Given the description of an element on the screen output the (x, y) to click on. 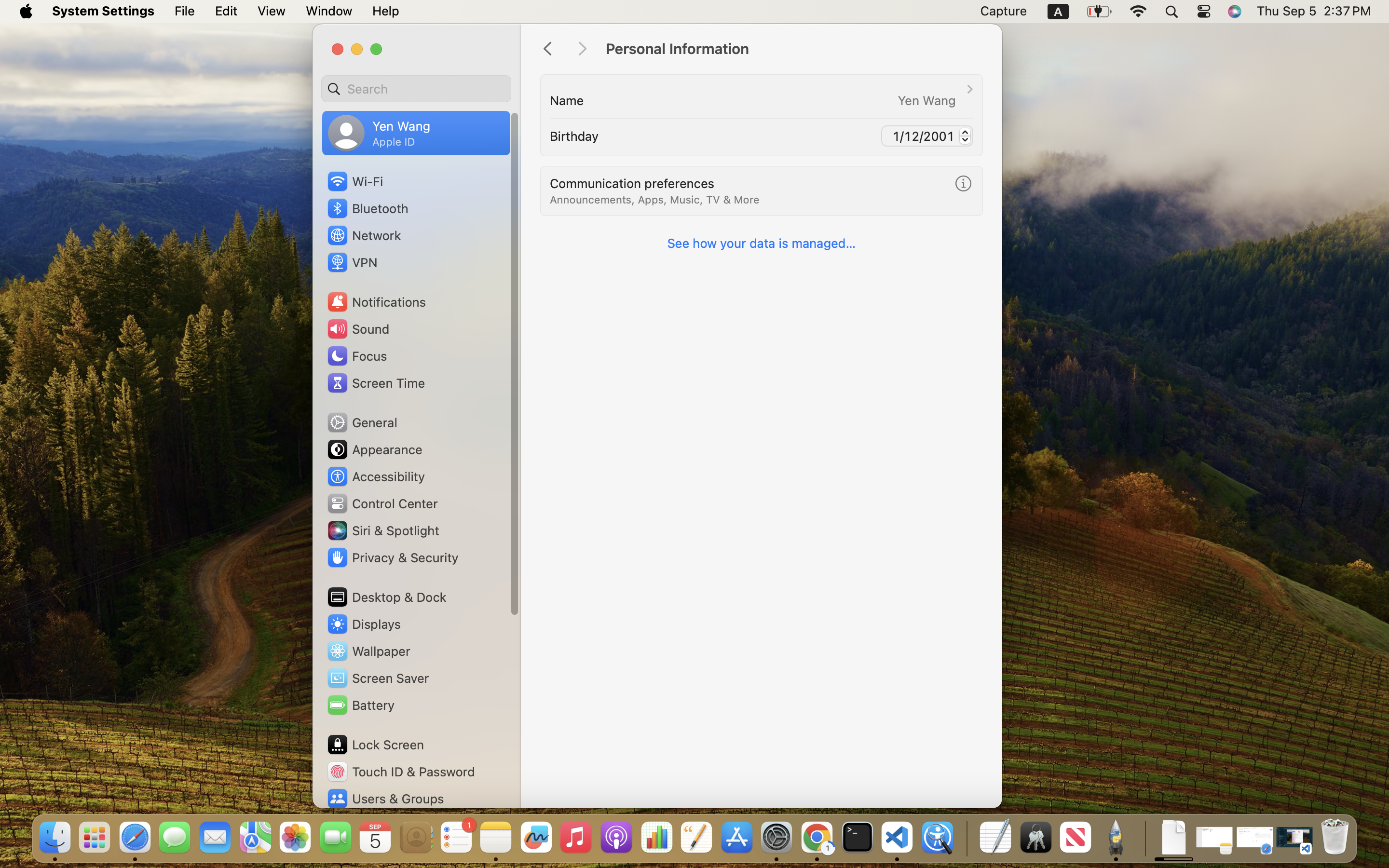
Privacy & Security Element type: AXStaticText (392, 557)
Sound Element type: AXStaticText (357, 328)
0.4285714328289032 Element type: AXDockItem (965, 837)
Birthday Element type: AXStaticText (574, 135)
Notifications Element type: AXStaticText (376, 301)
